Given the description of an element on the screen output the (x, y) to click on. 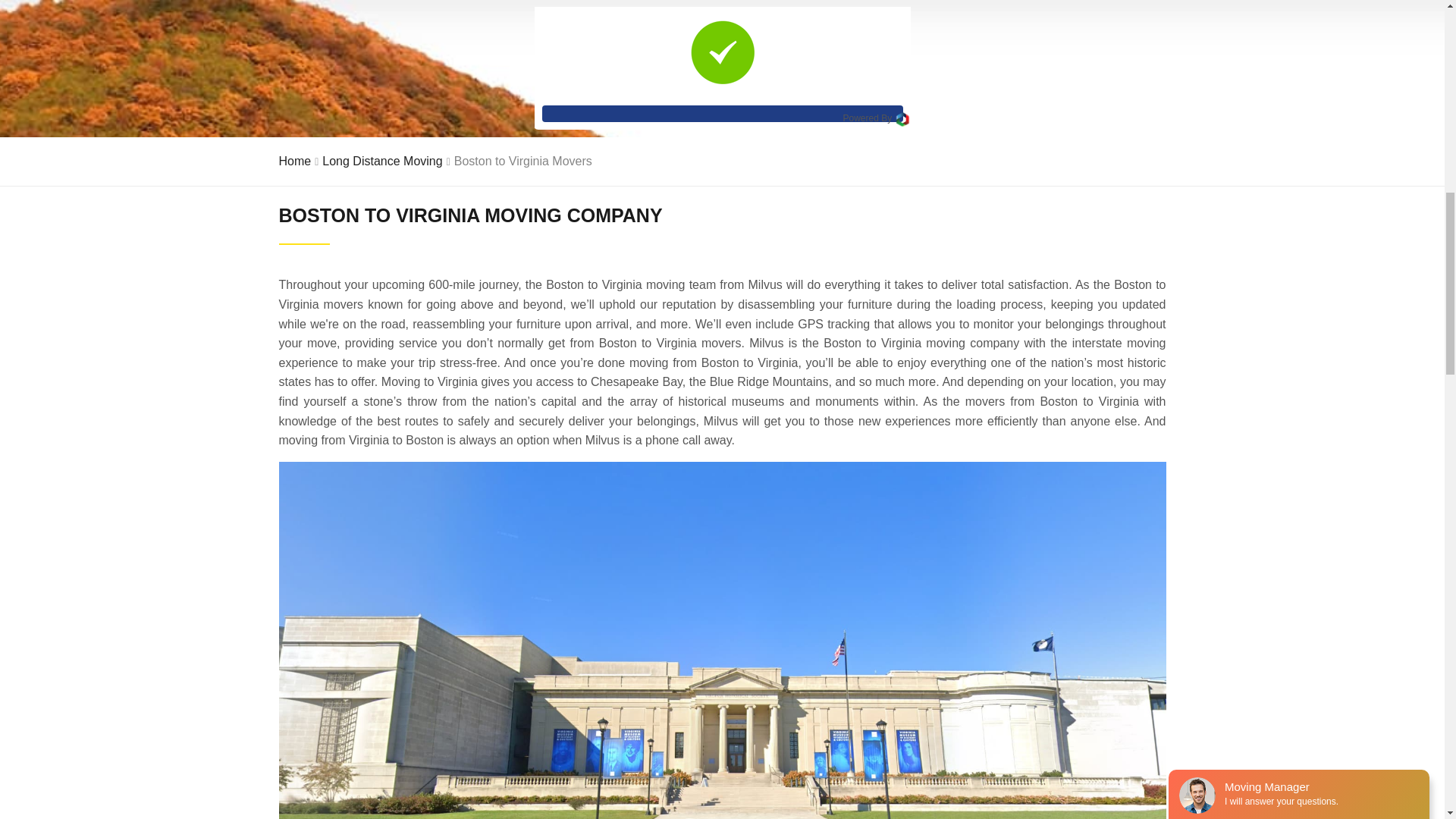
Powered By (875, 118)
Home (295, 160)
Long Distance Moving (381, 160)
